Given the description of an element on the screen output the (x, y) to click on. 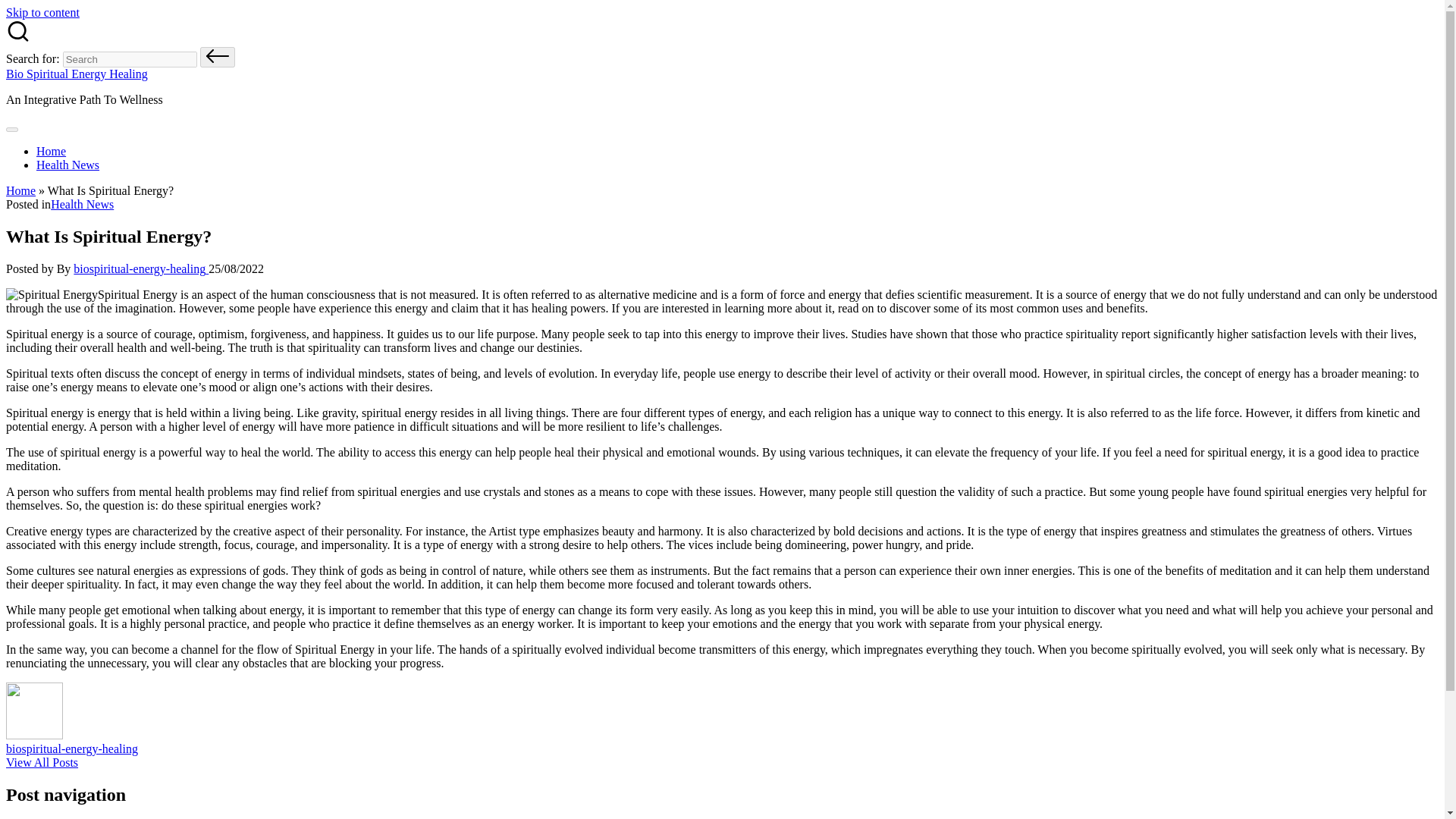
Home (19, 190)
Bio Spiritual Energy Healing (76, 73)
View All Posts (41, 762)
View all posts by biospiritual-energy-healing (141, 268)
Home (50, 151)
biospiritual-energy-healing (141, 268)
Skip to content (42, 11)
Health News (81, 204)
biospiritual-energy-healing (71, 748)
Health News (67, 164)
